Given the description of an element on the screen output the (x, y) to click on. 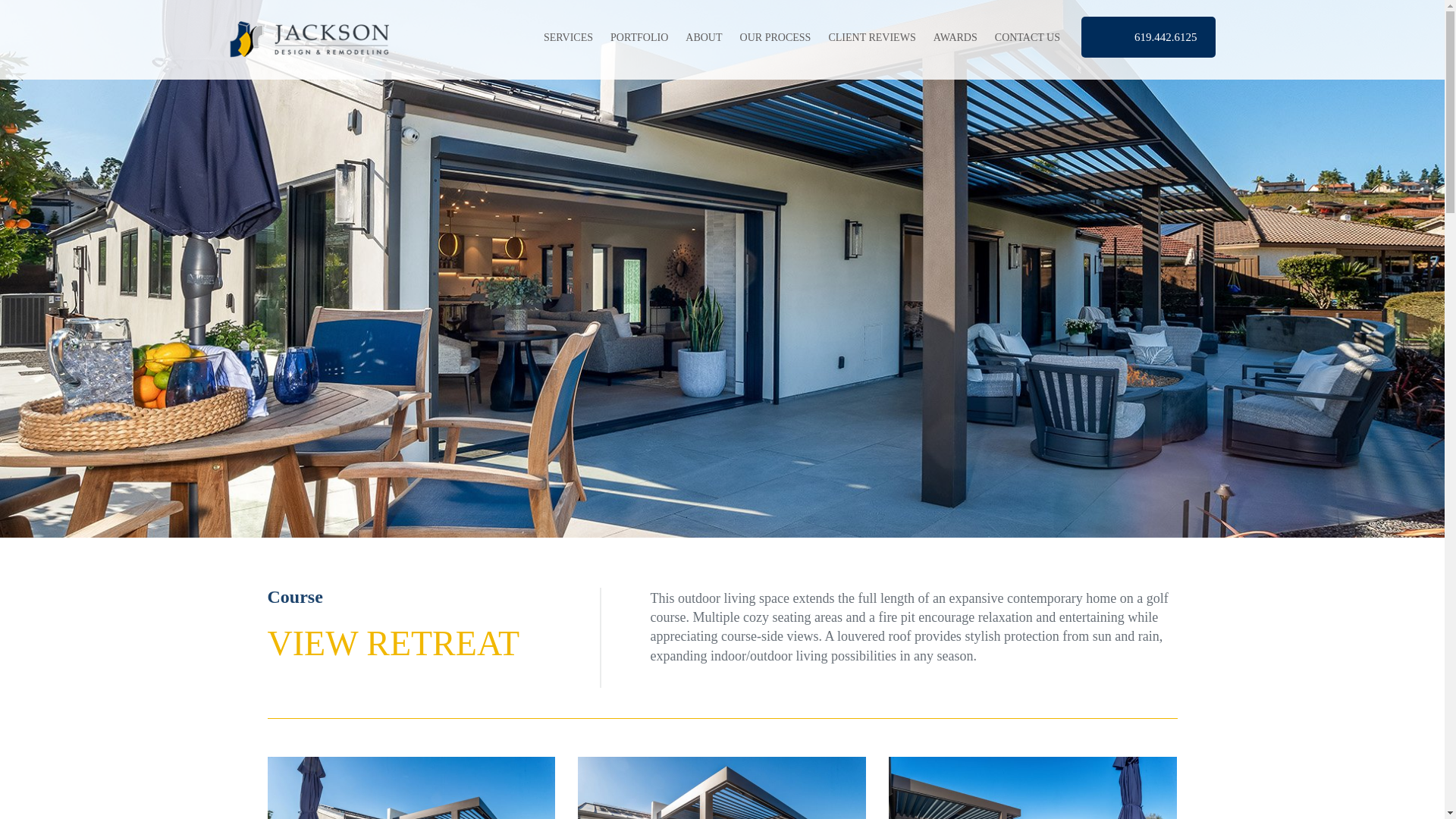
SERVICES (567, 37)
PORTFOLIO (639, 37)
ABOUT (703, 37)
